Given the description of an element on the screen output the (x, y) to click on. 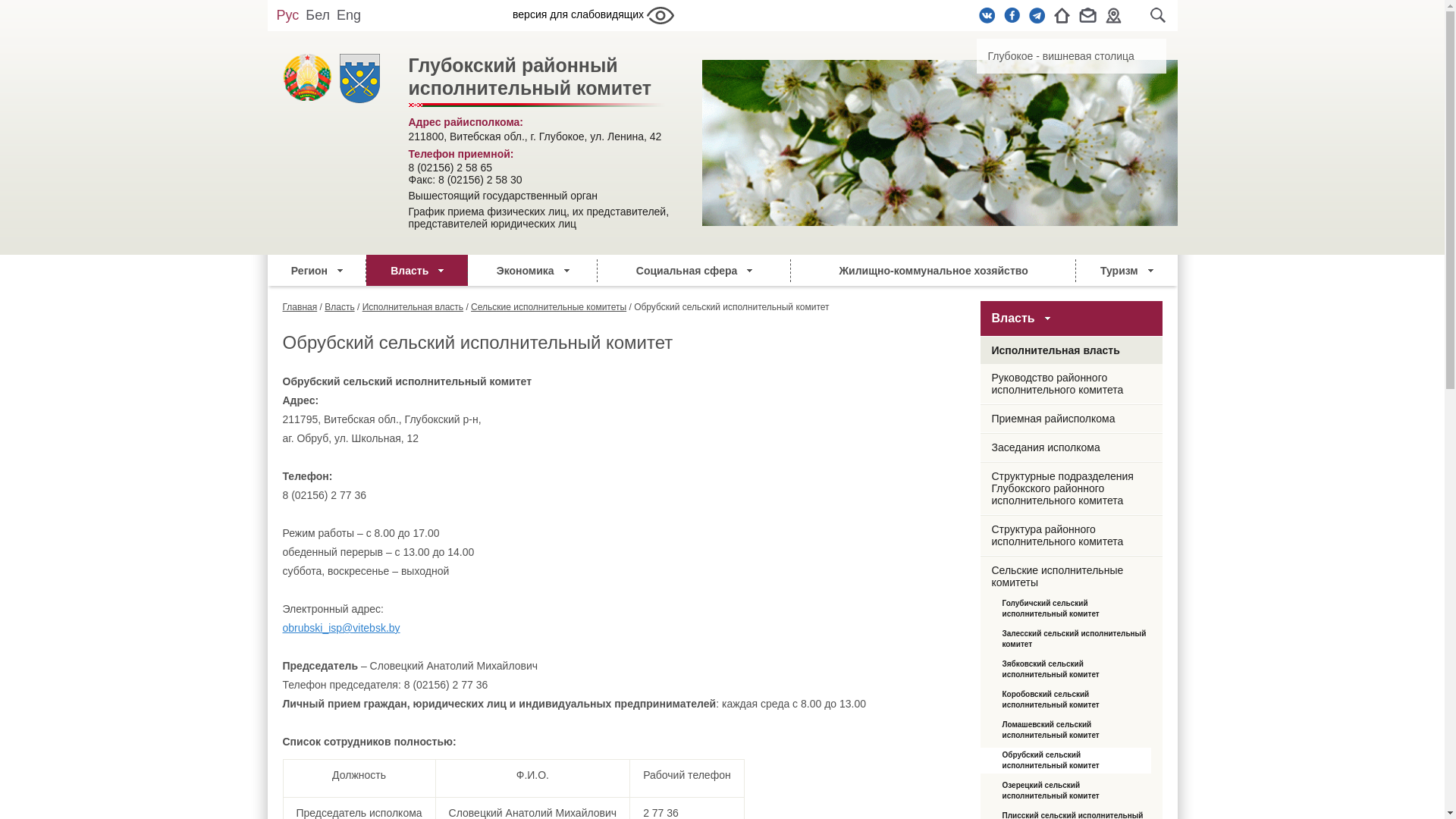
Facebook Element type: hover (1011, 14)
Eng Element type: text (348, 14)
obrubski_isp@vitebsk.by Element type: text (340, 627)
